Given the description of an element on the screen output the (x, y) to click on. 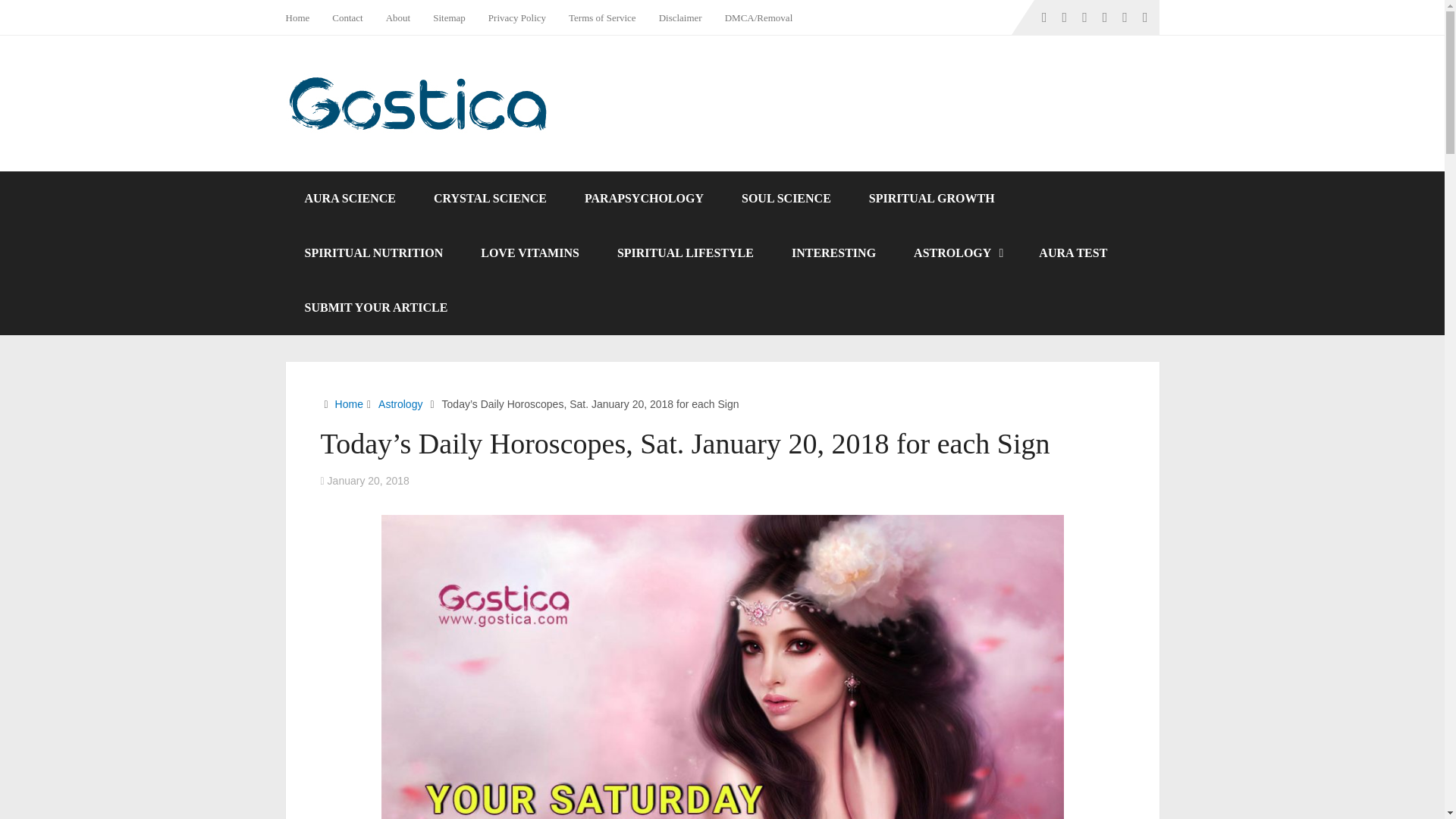
LOVE VITAMINS (529, 253)
SPIRITUAL LIFESTYLE (685, 253)
Sitemap (449, 17)
AURA TEST (1072, 253)
SOUL SCIENCE (786, 198)
About (398, 17)
Home (302, 17)
SPIRITUAL NUTRITION (373, 253)
Terms of Service (602, 17)
PARAPSYCHOLOGY (644, 198)
